Given the description of an element on the screen output the (x, y) to click on. 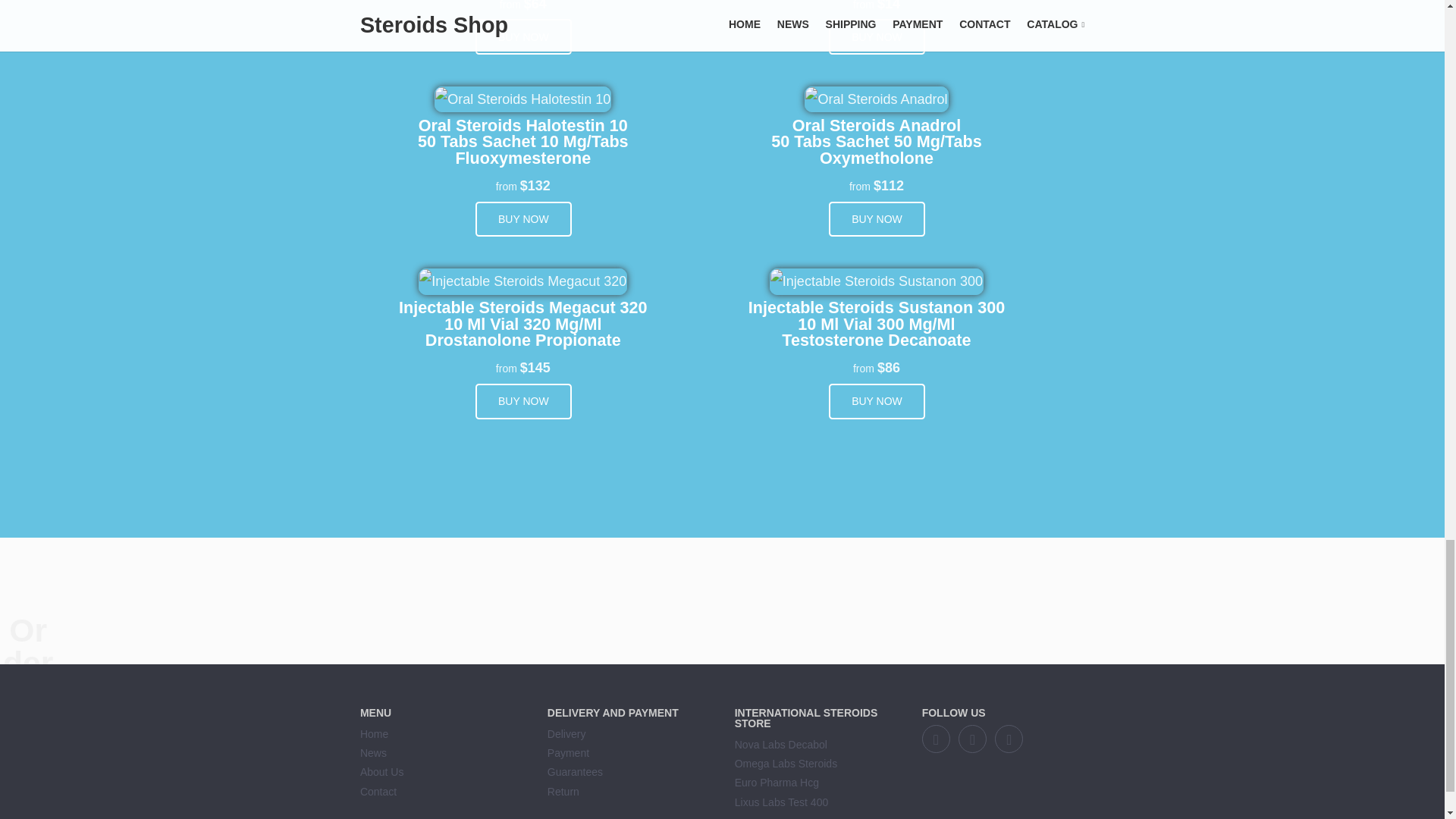
BUY NOW (876, 36)
BUY NOW (524, 36)
BUY NOW (876, 401)
BUY NOW (876, 219)
BUY NOW (524, 219)
BUY NOW (524, 401)
